Given the description of an element on the screen output the (x, y) to click on. 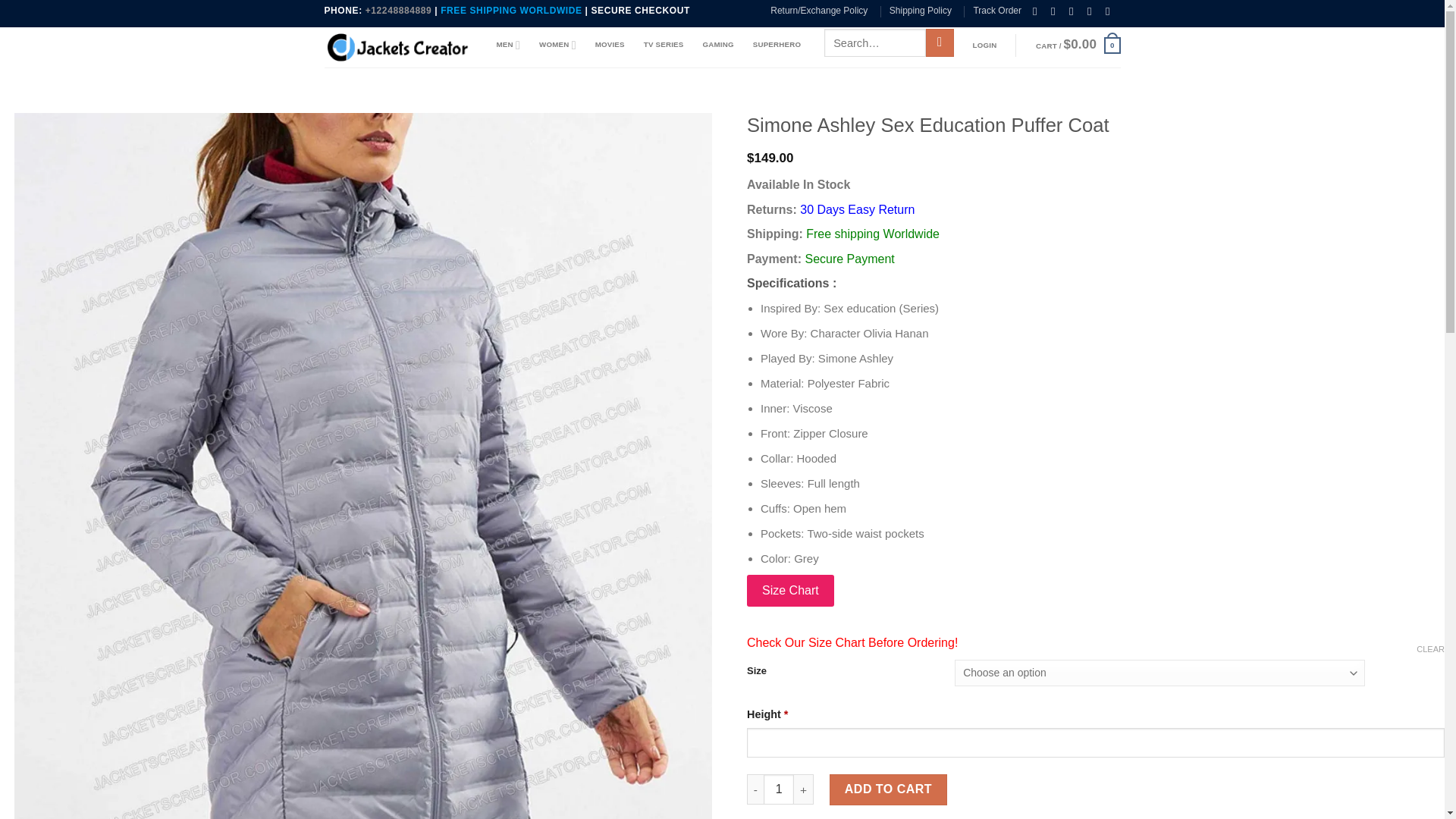
1 (777, 788)
Cart (1078, 45)
Jackets Creator (399, 47)
Track Order (997, 11)
GAMING (717, 44)
Shipping Policy (920, 11)
TV SERIES (663, 44)
WOMEN (557, 44)
